Given the description of an element on the screen output the (x, y) to click on. 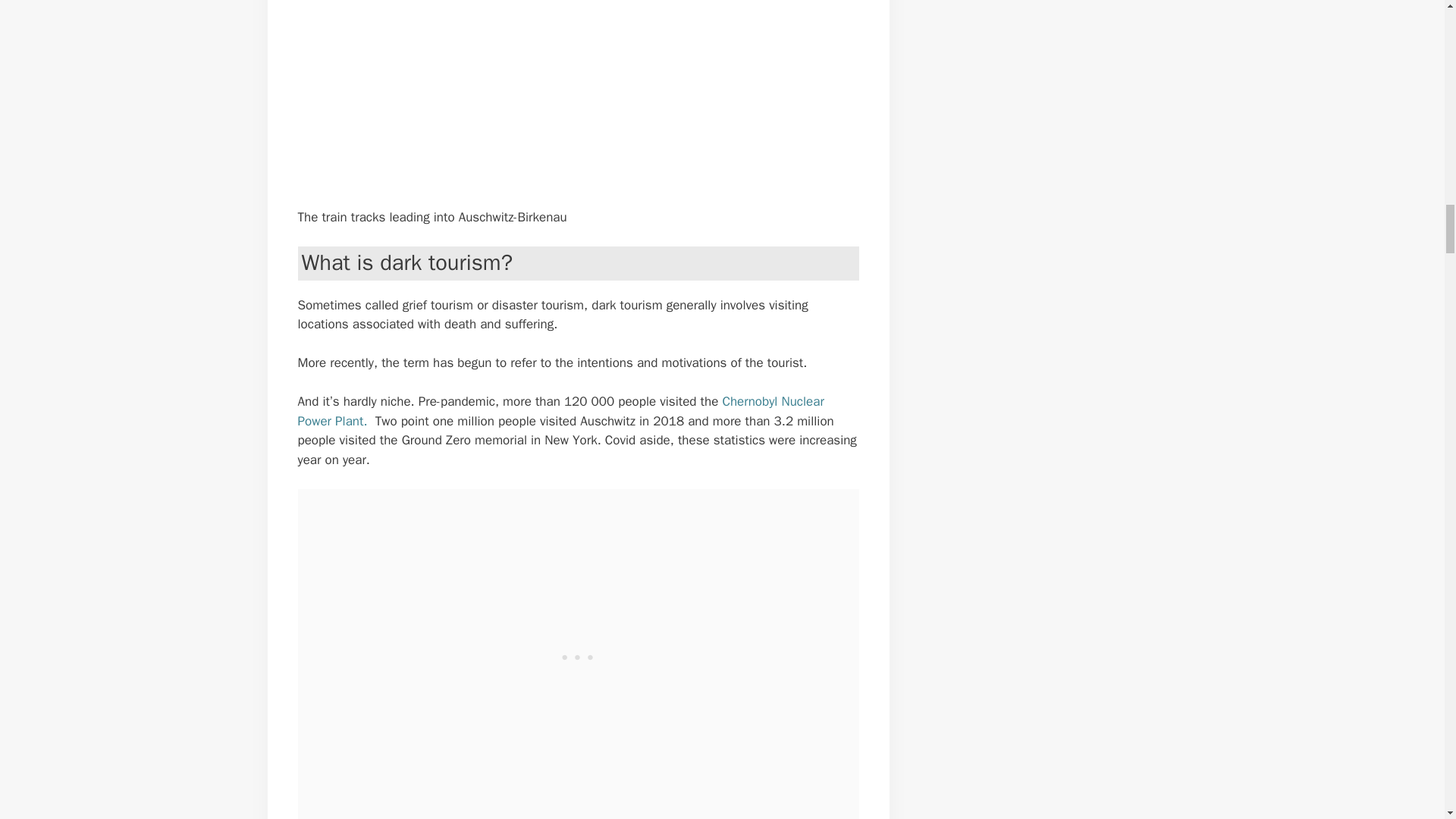
Dark tourism - train tracks to Auschwitz Birkenau (547, 91)
